Given the description of an element on the screen output the (x, y) to click on. 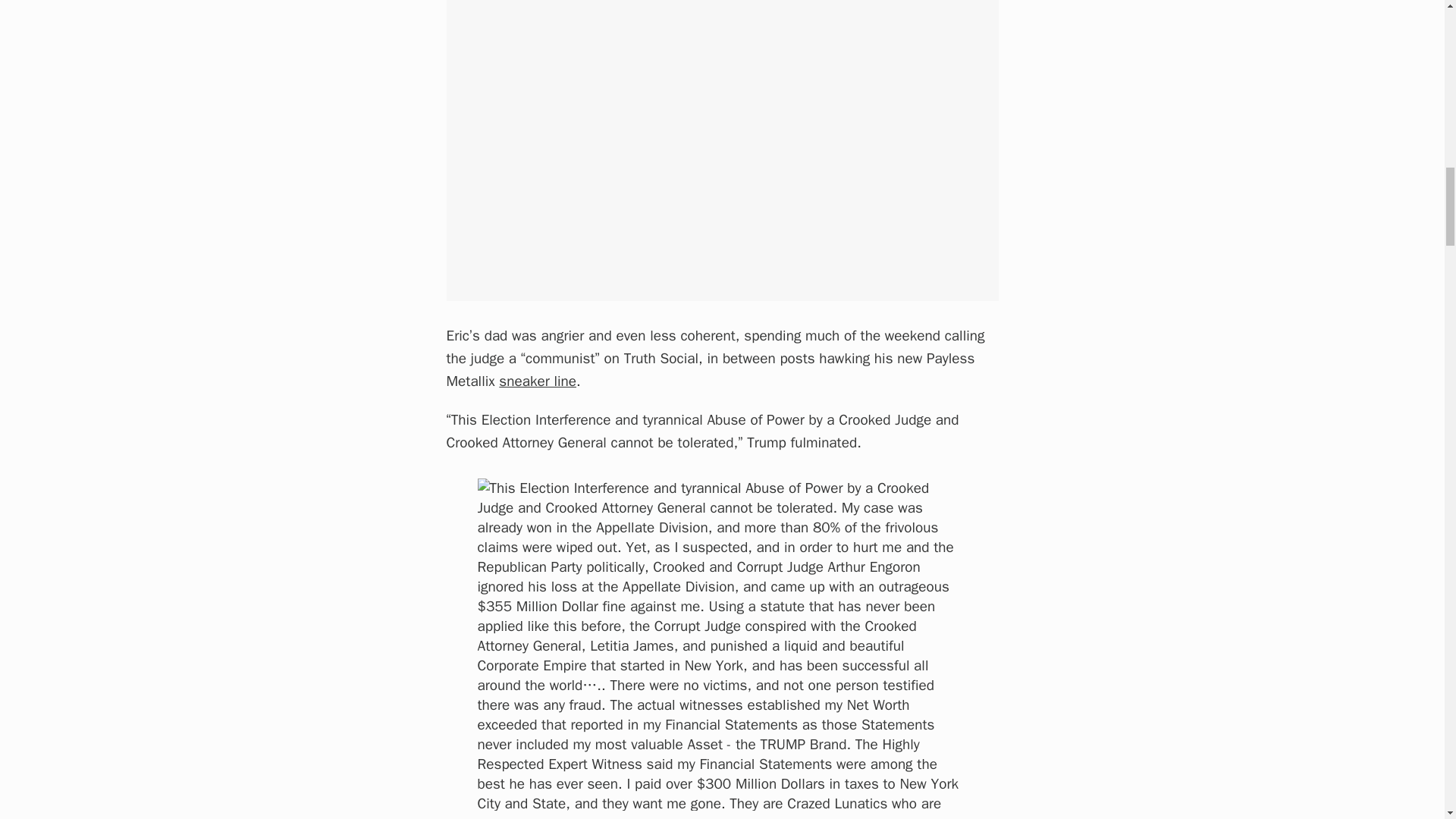
sneaker line (537, 381)
Truth Social (741, 818)
